Given the description of an element on the screen output the (x, y) to click on. 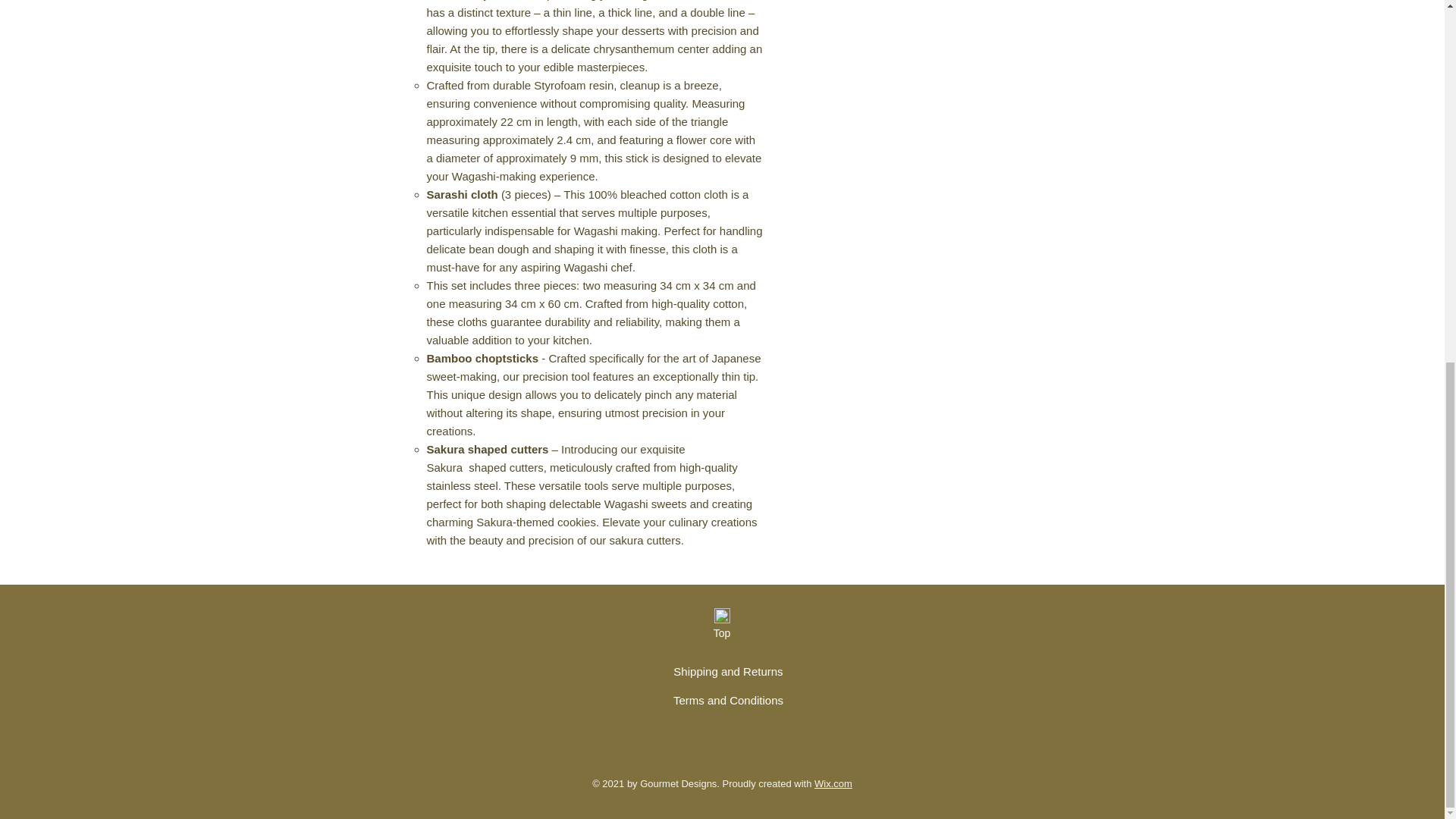
Terms and Conditions (727, 699)
Top (721, 633)
Shipping and Returns (727, 671)
Back to top (722, 615)
